Given the description of an element on the screen output the (x, y) to click on. 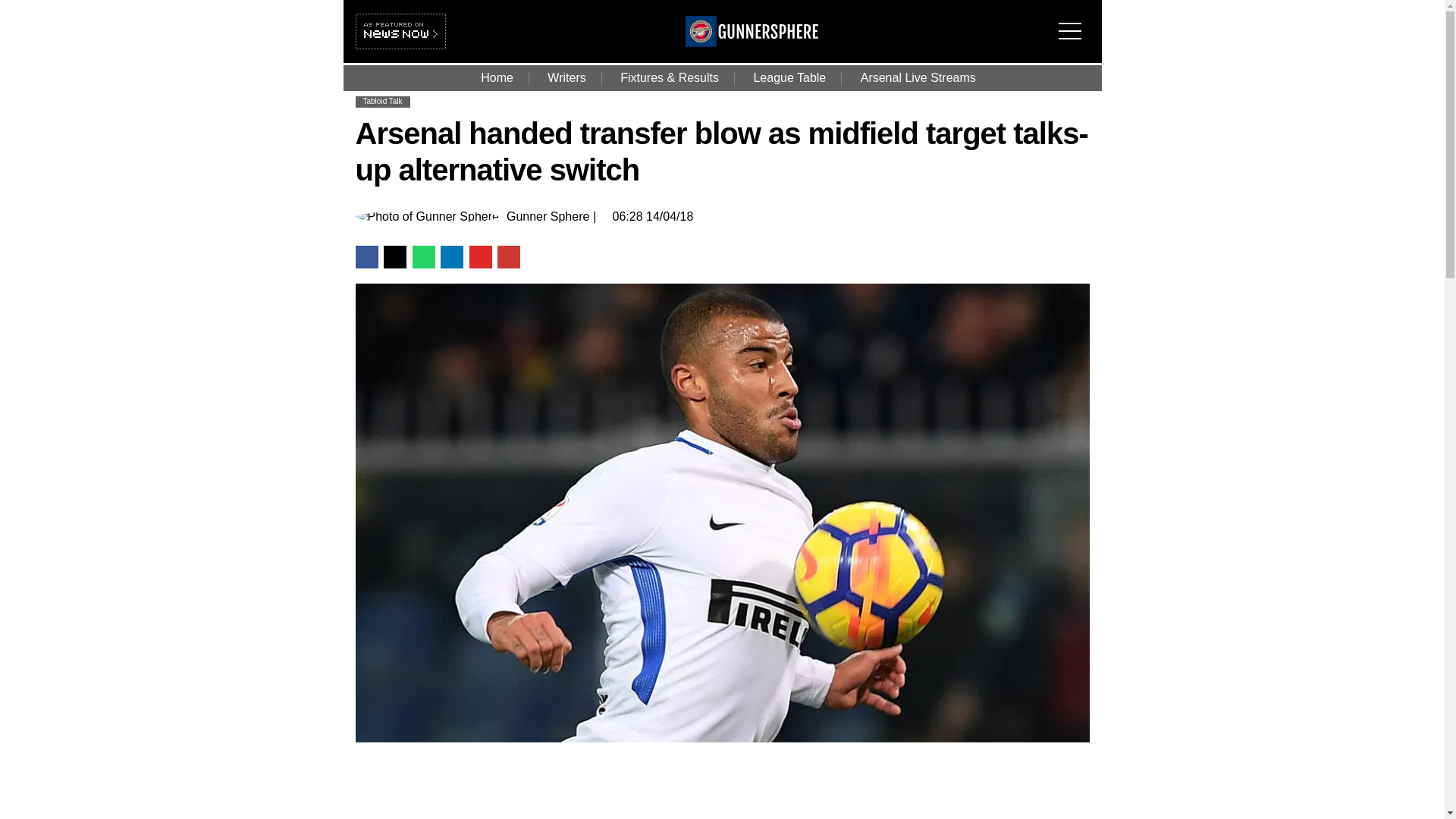
Tabloid Talk (381, 101)
Back to the homepage (751, 42)
share on Email (508, 256)
share on Flipboard (480, 256)
share on WhatsApp (423, 256)
League Table (789, 78)
Gunner Sphere (547, 216)
Arsenal Live Streams (918, 78)
Writers (565, 78)
share on Facebook (366, 256)
share on LinkedIn (452, 256)
Menu (1074, 21)
share on Twitter (395, 256)
Home (496, 78)
